Given the description of an element on the screen output the (x, y) to click on. 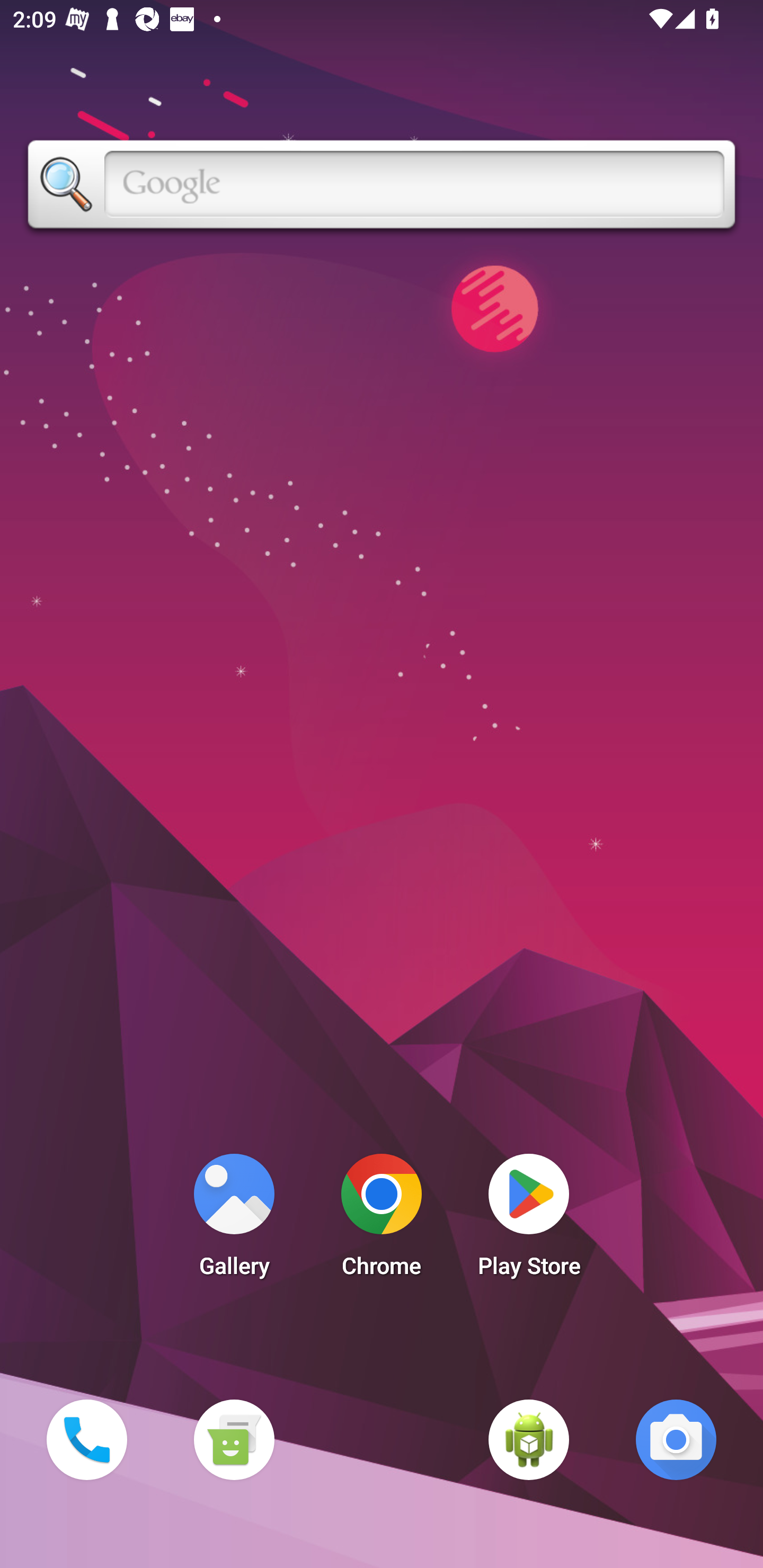
Gallery (233, 1220)
Chrome (381, 1220)
Play Store (528, 1220)
Phone (86, 1439)
Messaging (233, 1439)
WebView Browser Tester (528, 1439)
Camera (676, 1439)
